Given the description of an element on the screen output the (x, y) to click on. 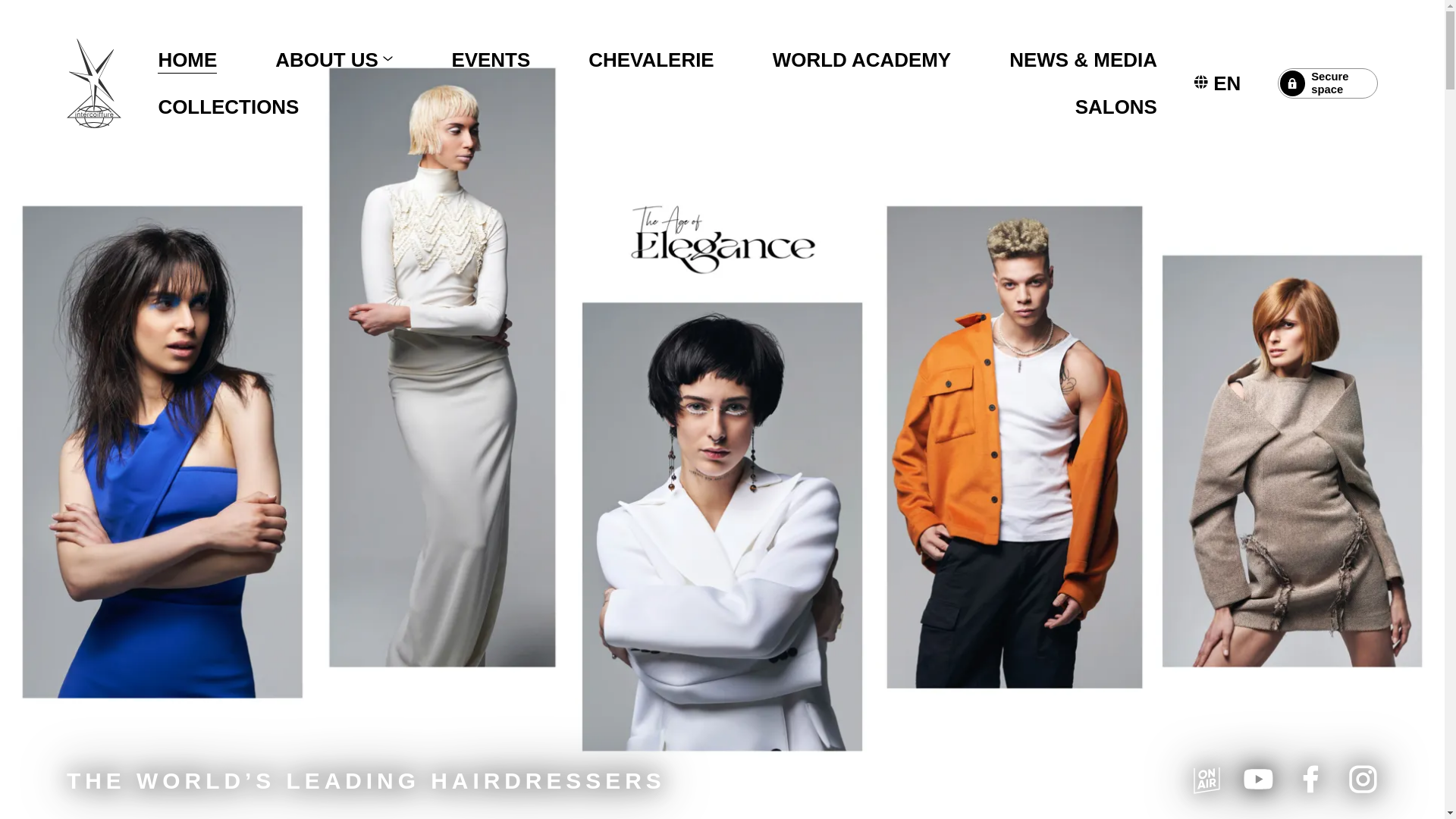
Global Hairdressing Events by Intercoiffure Mondial (490, 59)
CHEVALERIE (650, 59)
WORLD ACADEMY (861, 59)
Follow us on Instagram (1362, 778)
SALONS (1116, 106)
COLLECTIONS (227, 106)
Login (1327, 82)
Follow us on Facebook (1206, 778)
ABOUT US (334, 59)
About us (334, 59)
Follow us on Facebook (1309, 778)
Follow us on Facebook (1257, 778)
Intercoiffeur Mondial Collections: Artistry in Hair Fashion (227, 106)
WorldAcademy: Elevate Your Skills with Our Education Program (861, 59)
